Given the description of an element on the screen output the (x, y) to click on. 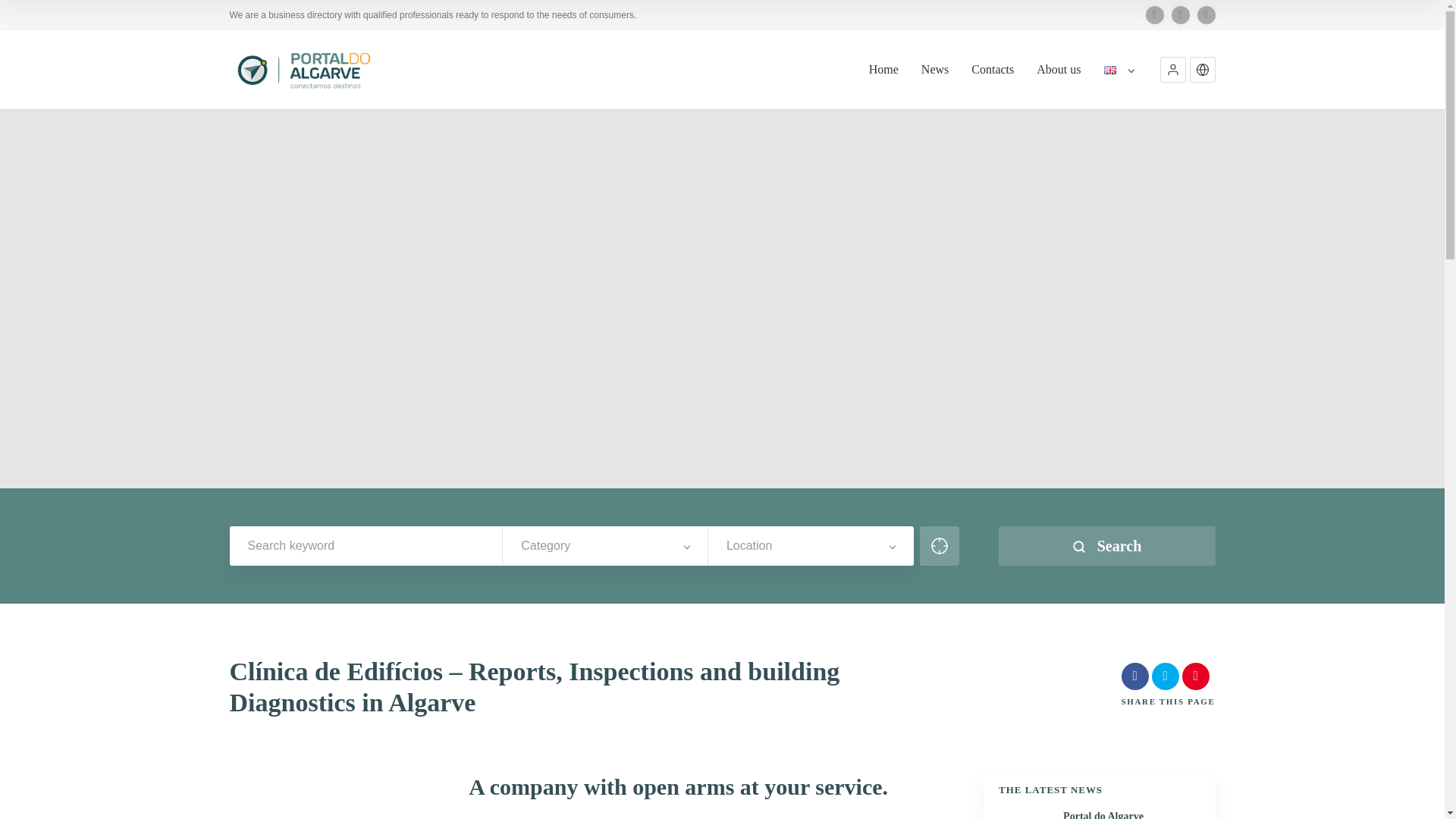
Search (1105, 545)
About us (1058, 85)
Contacts (992, 85)
Search (1105, 545)
Log In (992, 122)
English (1113, 70)
